Given the description of an element on the screen output the (x, y) to click on. 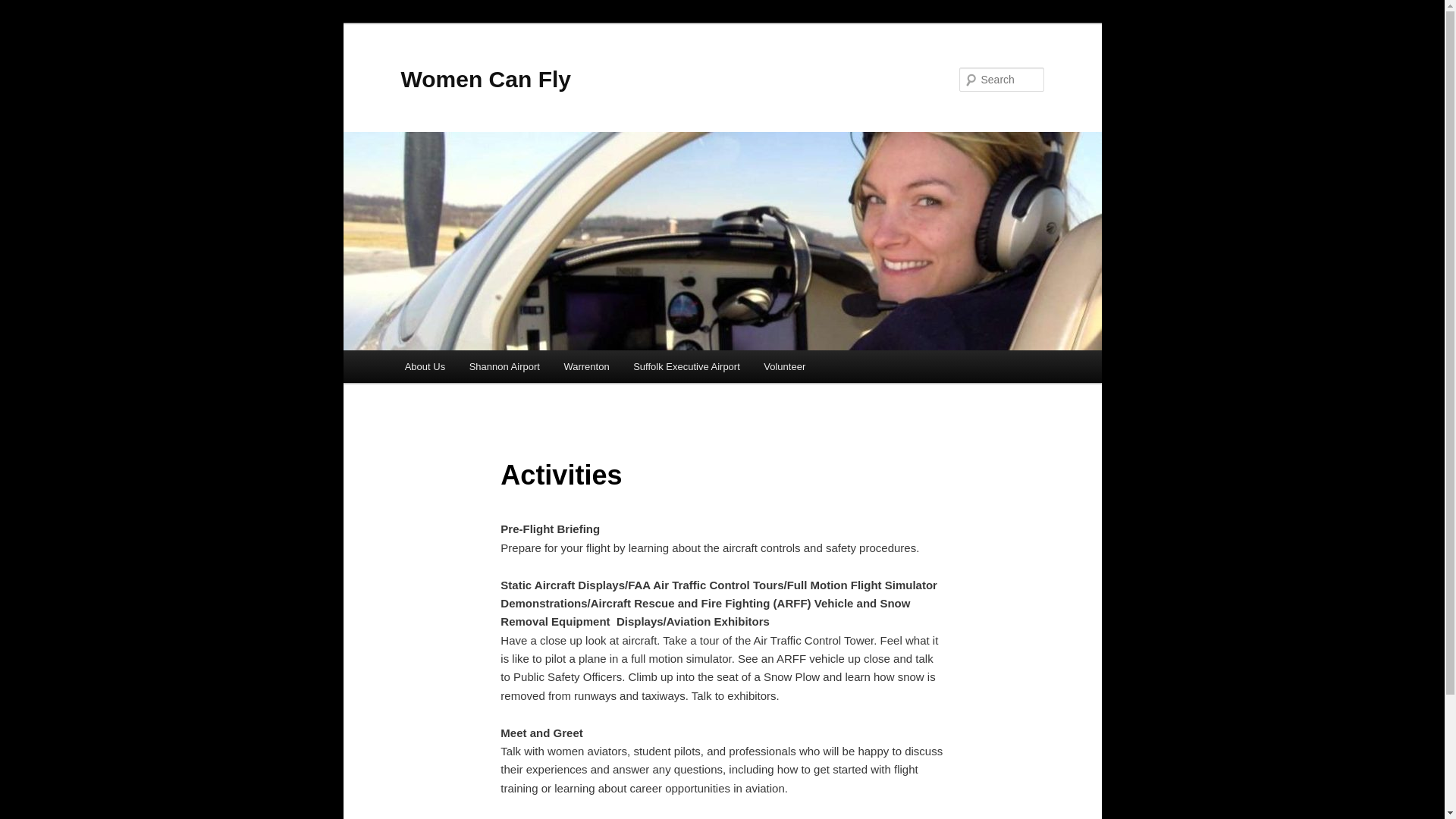
Suffolk Executive Airport (686, 366)
About Us (425, 366)
Search (24, 8)
Volunteer (784, 366)
Shannon Airport (504, 366)
Women Can Fly (485, 78)
Warrenton (586, 366)
